Given the description of an element on the screen output the (x, y) to click on. 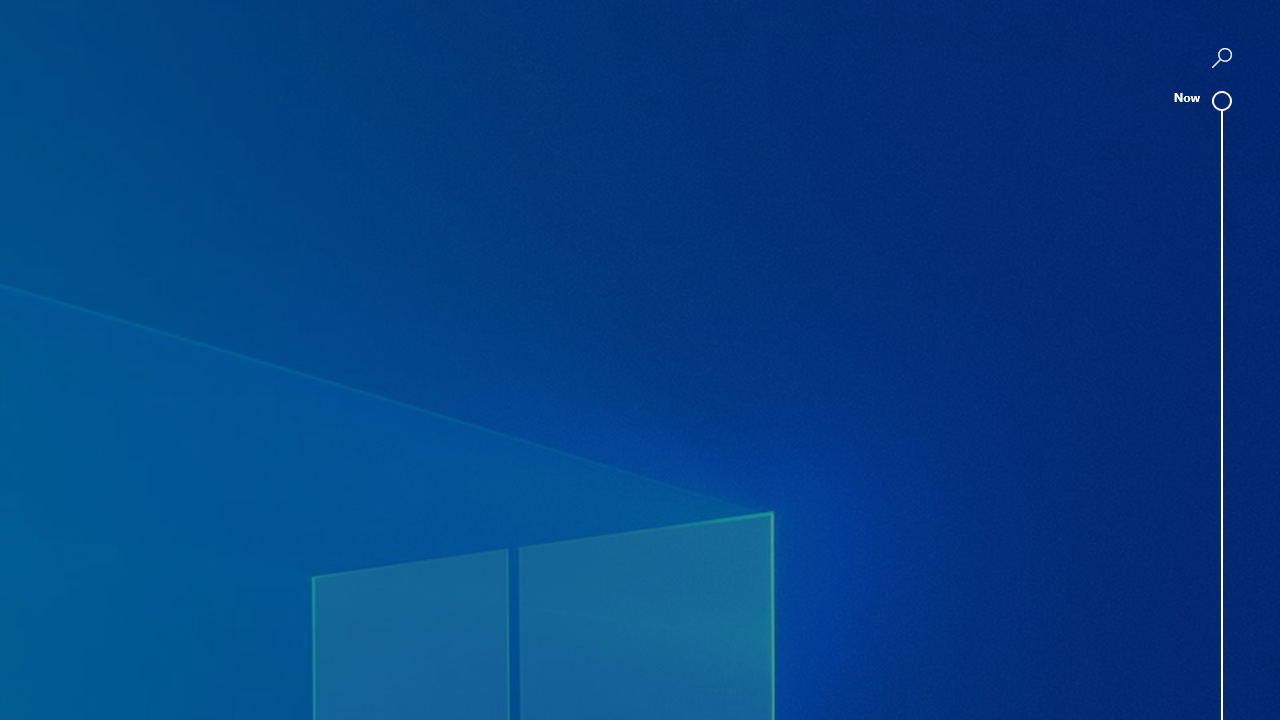
AutomationID: SeparateQueryButton (1221, 57)
